Given the description of an element on the screen output the (x, y) to click on. 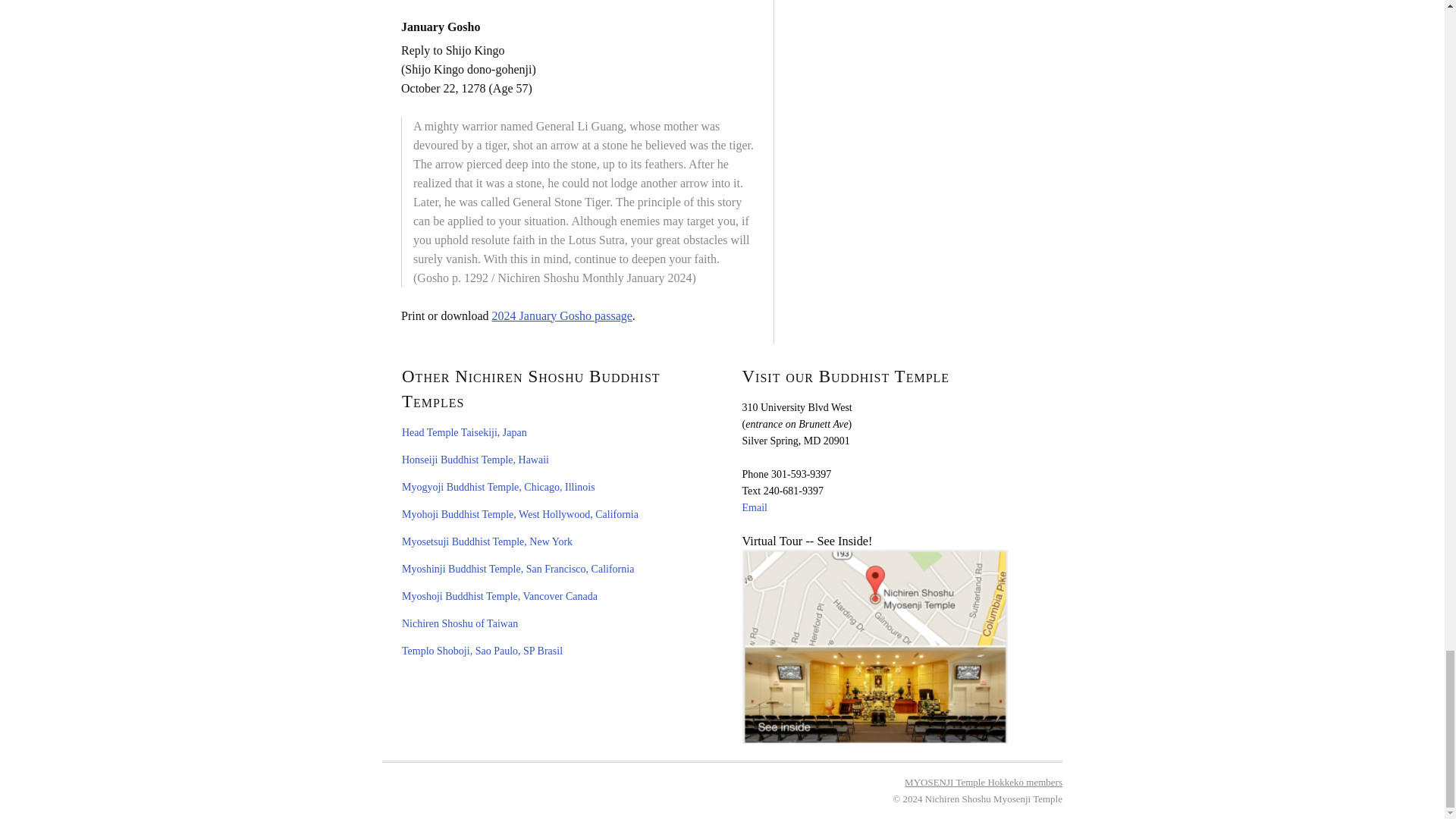
New York (486, 541)
Los Angeles (520, 514)
Nichiren Shoshu Buddhism of Taiwan (459, 623)
MYOSENJI Temple Hokkeko members (983, 781)
Chicago (498, 487)
Nichiren Shoshu Head Temple (464, 432)
Nichiren Shoshu Temple in Brasil (481, 650)
Nichiren Shoshu Buddhist Temple in Hawaii (474, 460)
